Given the description of an element on the screen output the (x, y) to click on. 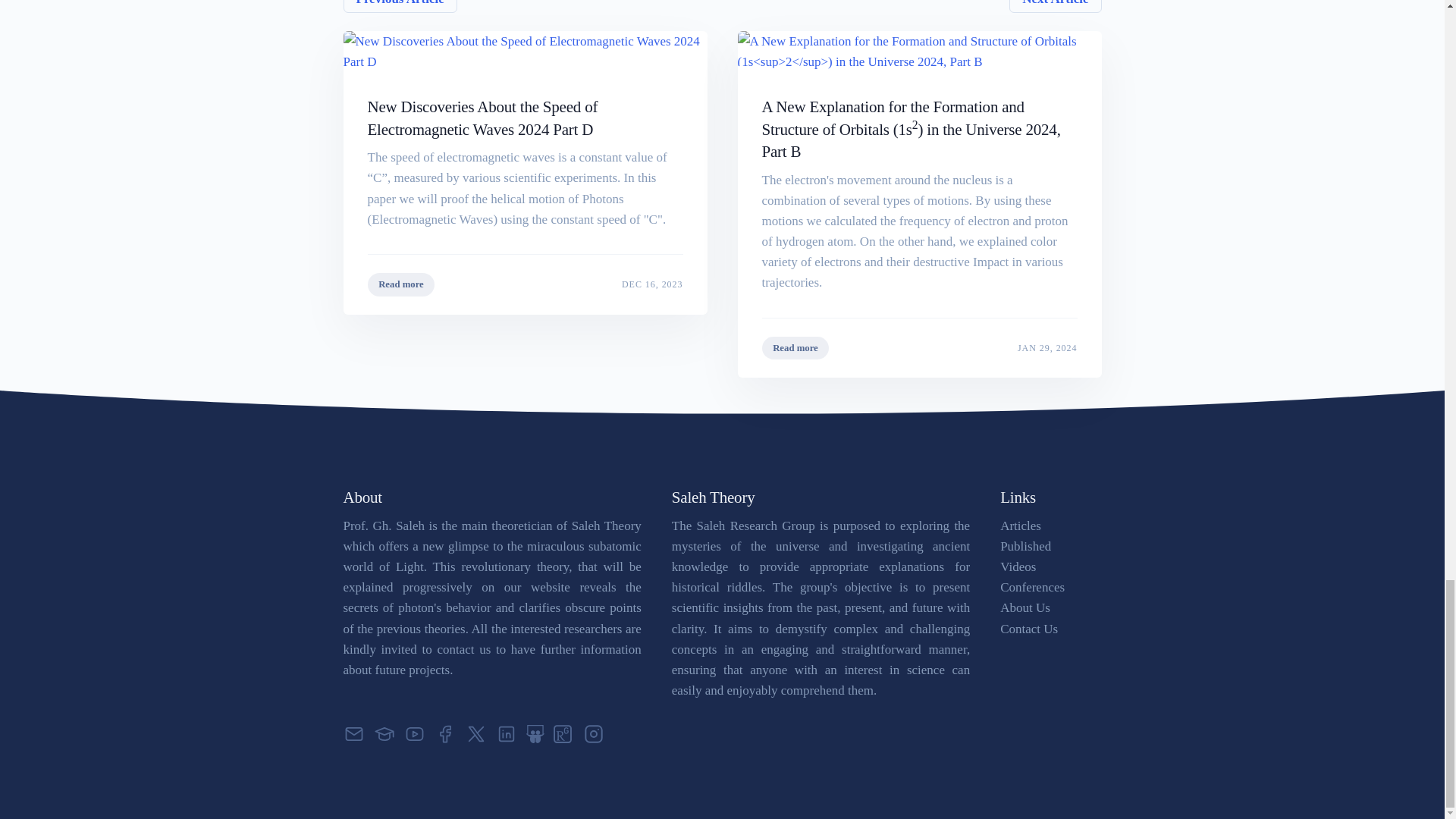
Videos (1017, 566)
About Us (1024, 607)
Published (918, 347)
Articles (1025, 545)
Previous Article (1020, 525)
Contact Us (399, 6)
Next Article (524, 283)
Conferences (1029, 628)
